Given the description of an element on the screen output the (x, y) to click on. 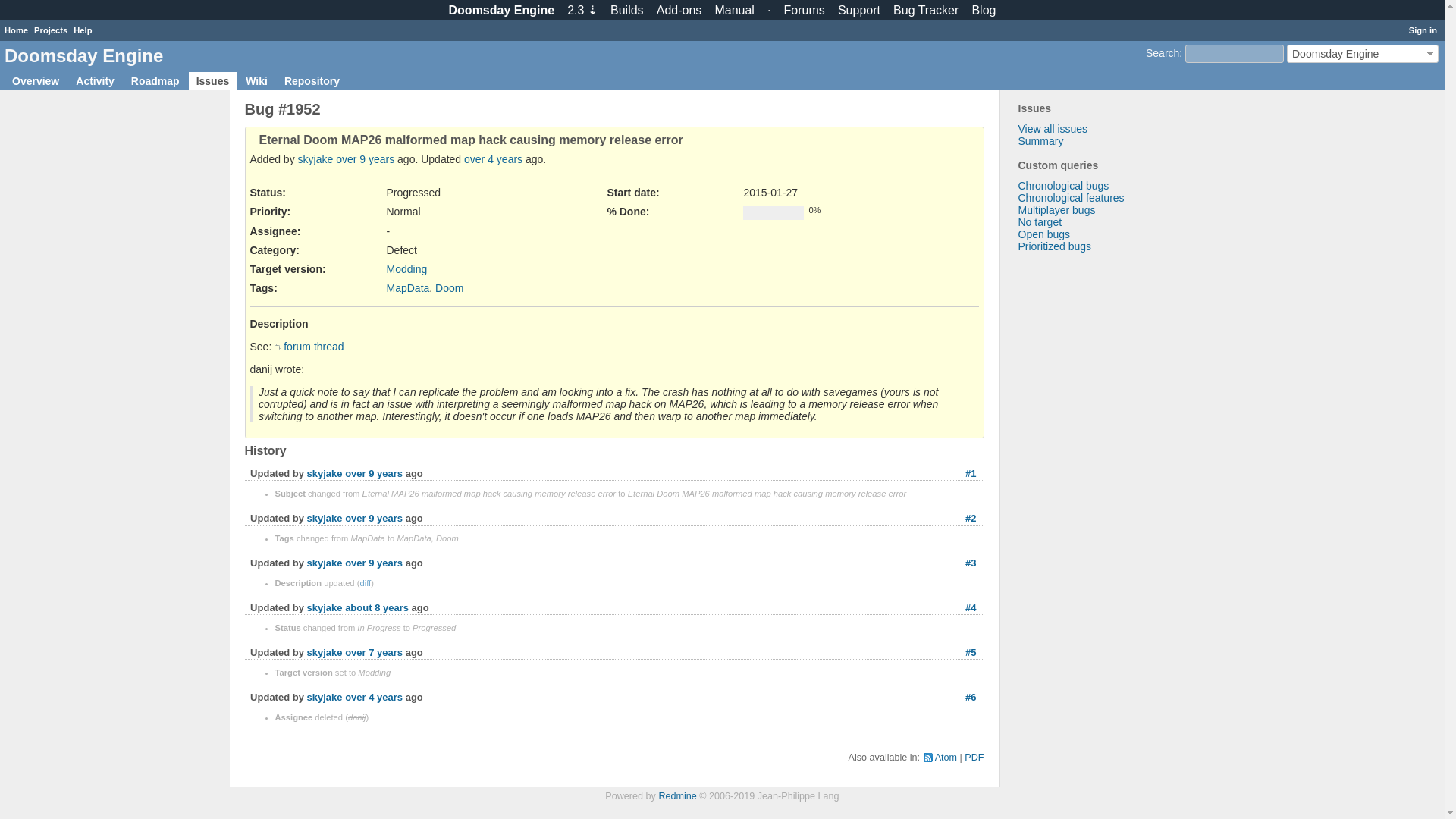
Overview (35, 81)
View differences (365, 583)
Repository (311, 81)
Chronological features (1070, 197)
skyjake (324, 473)
over 9 years (365, 159)
2015-01-27 20:57 (365, 159)
over 9 years (374, 518)
2015-01-27 20:57 (374, 473)
diff (365, 583)
2016-07-05 23:56 (377, 607)
2019-11-29 23:06 (374, 696)
No target (1039, 222)
View all issues (1052, 128)
Issues (213, 81)
